Given the description of an element on the screen output the (x, y) to click on. 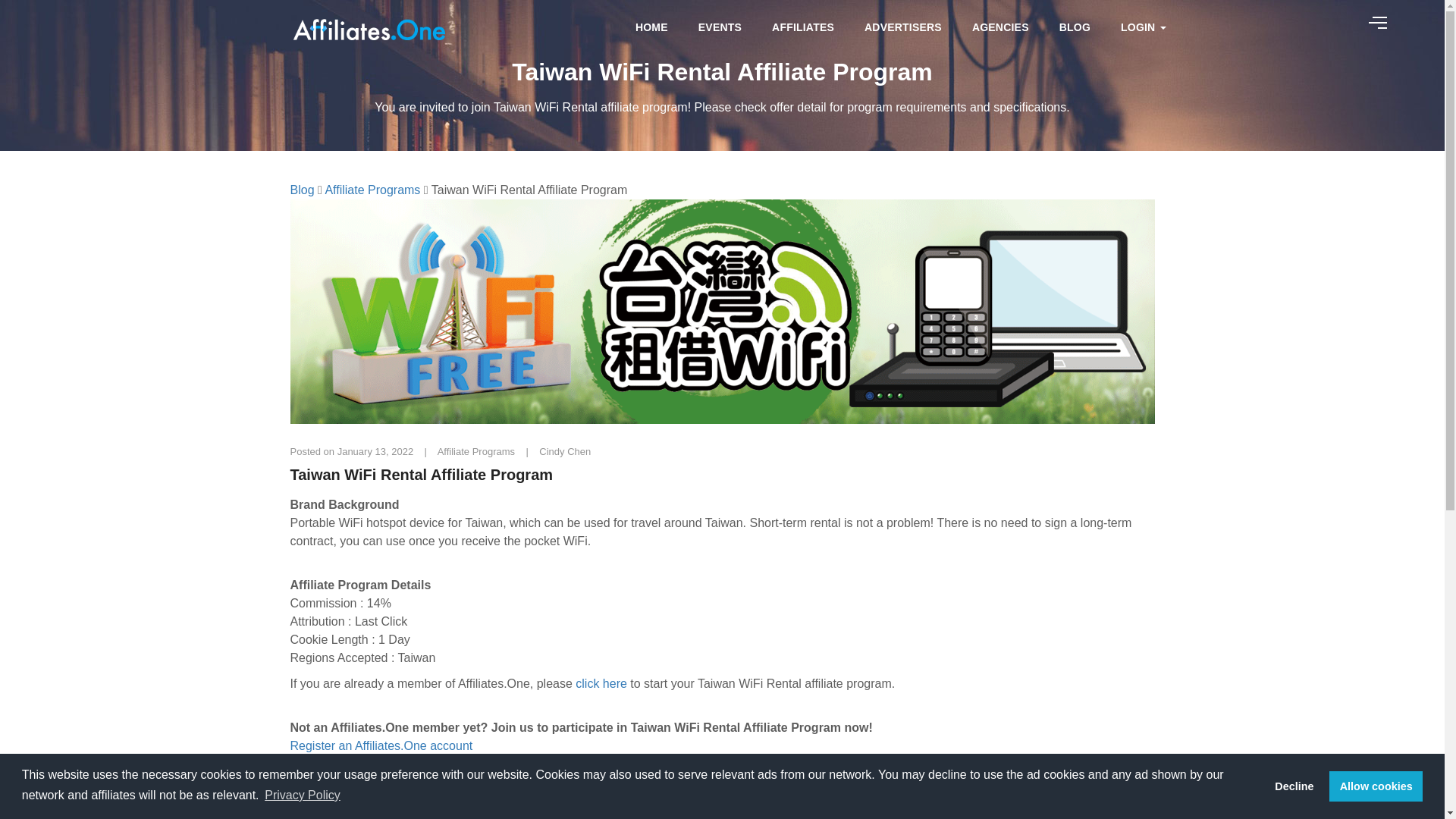
Privacy Policy (302, 794)
Taiwan WiFi Rental Affiliate Program (721, 474)
Cindy Chen (564, 451)
Affiliate Programs (478, 451)
click here (601, 683)
Register an Affiliates.One account (380, 745)
Decline (1294, 786)
Logo (366, 27)
Affiliate Programs (372, 189)
AGENCIES (1000, 27)
